Given the description of an element on the screen output the (x, y) to click on. 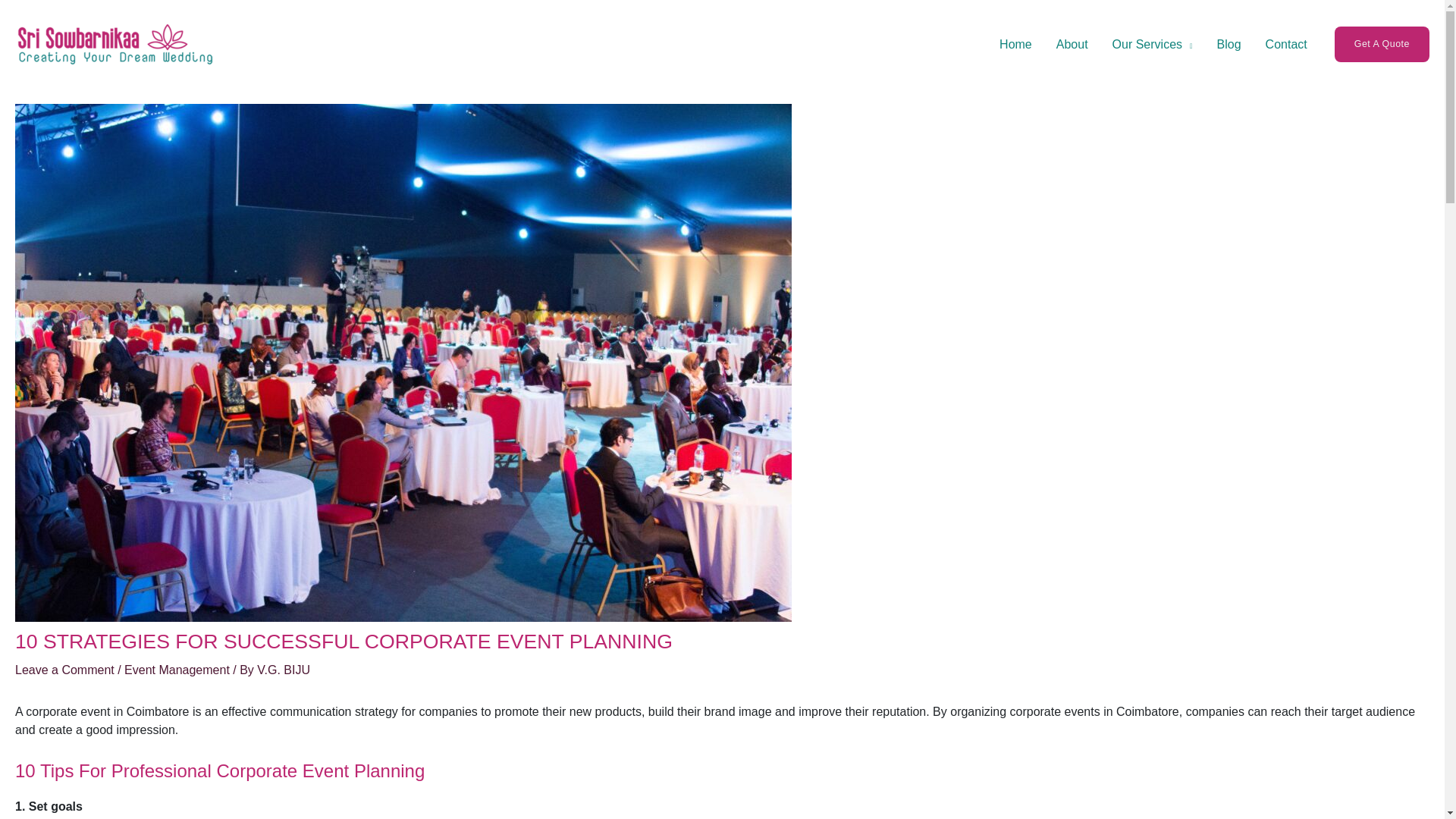
Leave a Comment (64, 669)
Contact (1286, 44)
View all posts by V.G. BIJU (283, 669)
Get A Quote (1382, 43)
Blog (1229, 44)
Our Services (1152, 44)
Home (1015, 44)
Event Management (176, 669)
About (1071, 44)
